Given the description of an element on the screen output the (x, y) to click on. 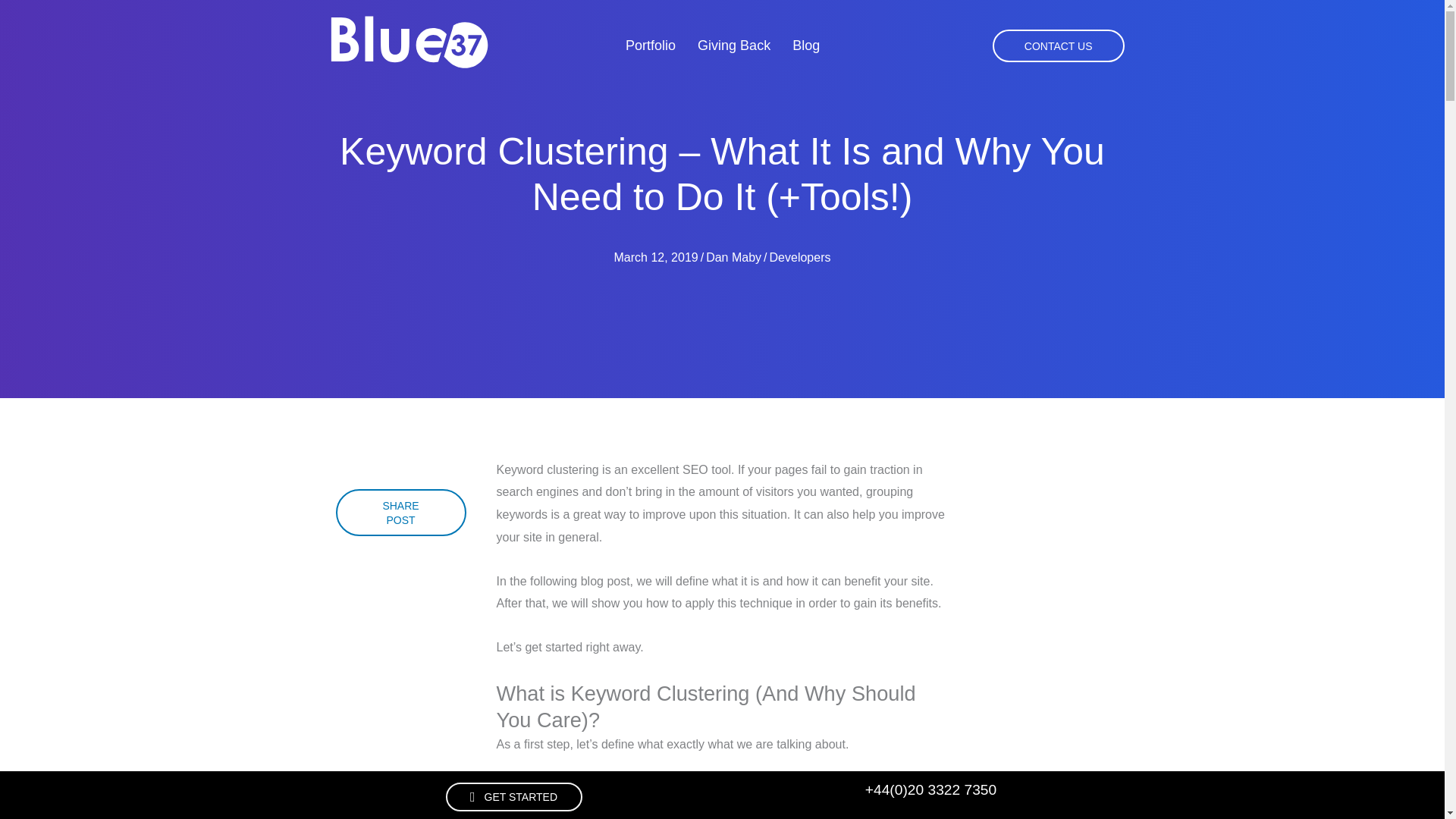
Dan Maby (733, 256)
Developers (800, 256)
Giving Back (733, 45)
Blog (805, 45)
SHARE POST (399, 512)
Portfolio (649, 45)
Click Here (1058, 45)
Click Here (399, 512)
CONTACT US (1058, 45)
